Given the description of an element on the screen output the (x, y) to click on. 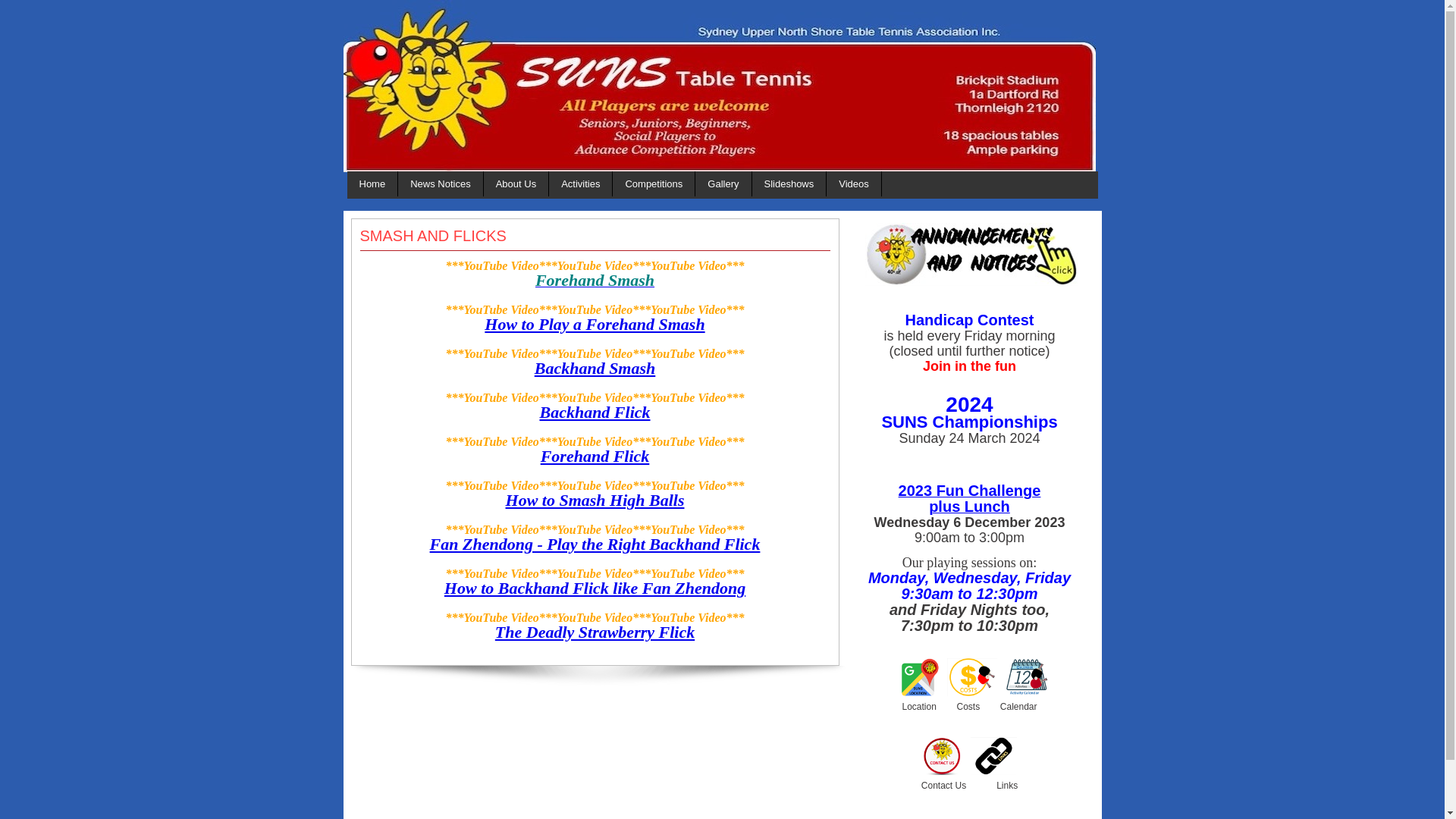
Forehand Flick Element type: text (594, 455)
How to Backhand Flick like Fan Zhendong Element type: text (594, 587)
How to Play a Forehand Smash Element type: text (594, 323)
Forehand Smash Element type: text (594, 282)
Fan Zhendong - Play the Right Backhand Flick Element type: text (594, 543)
Competitions Element type: text (653, 183)
The Deadly Strawberry Flick Element type: text (594, 631)
Slideshows Element type: text (789, 183)
How to Smash High Balls Element type: text (594, 499)
Videos Element type: text (853, 183)
Backhand Smash Element type: text (594, 367)
Gallery Element type: text (722, 183)
About Us Element type: text (515, 183)
News Notices Element type: text (440, 183)
Activities Element type: text (580, 183)
Home Element type: text (372, 183)
Backhand Flick Element type: text (594, 411)
2023 Fun Challenge
plus Lunch Element type: text (969, 500)
